Given the description of an element on the screen output the (x, y) to click on. 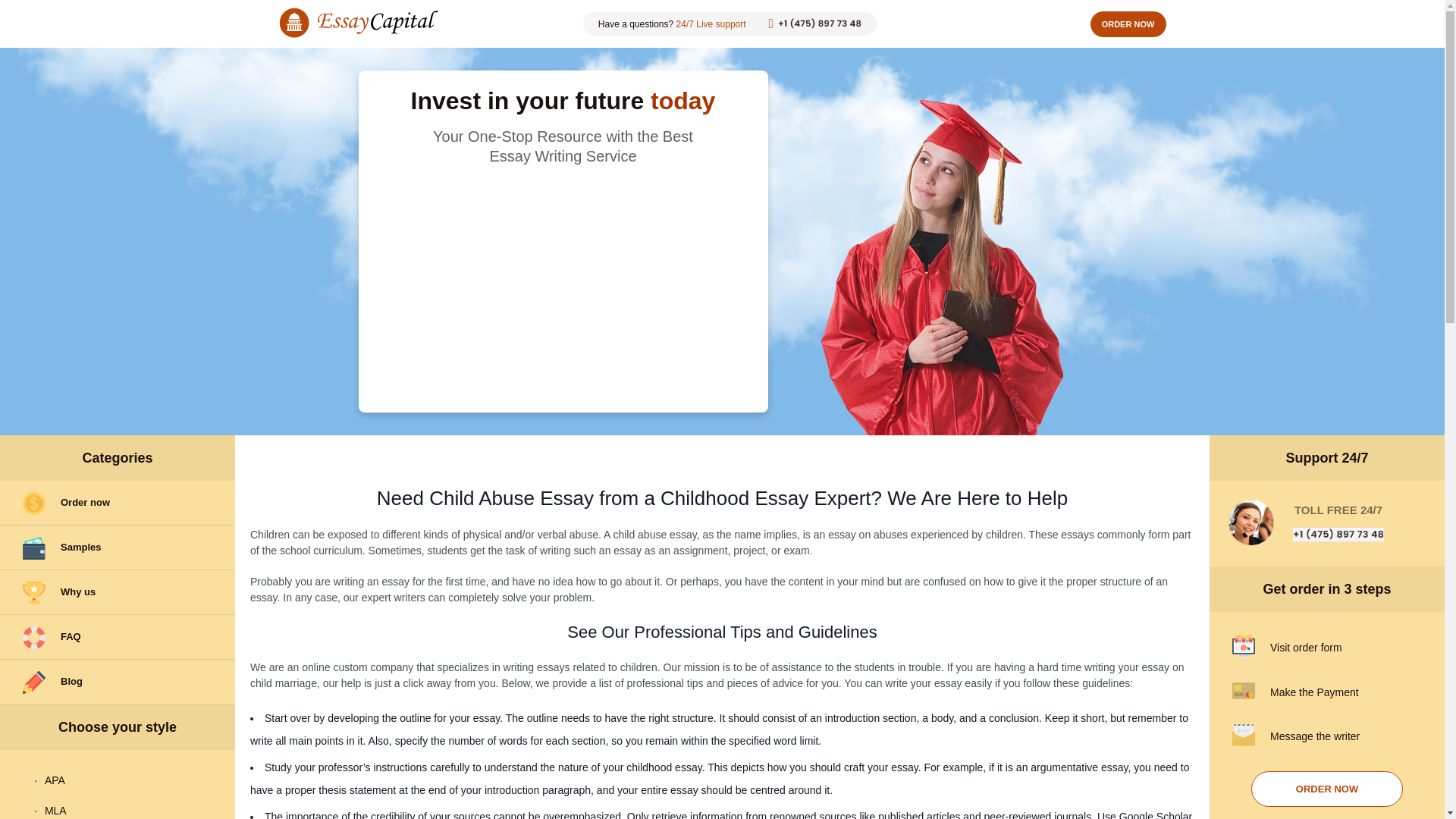
FAQ (117, 637)
ORDER NOW (1326, 788)
Why us (117, 592)
Blog (117, 682)
ORDER NOW (1128, 23)
MLA (117, 807)
APA (117, 779)
Samples (117, 547)
Order now (117, 502)
